Given the description of an element on the screen output the (x, y) to click on. 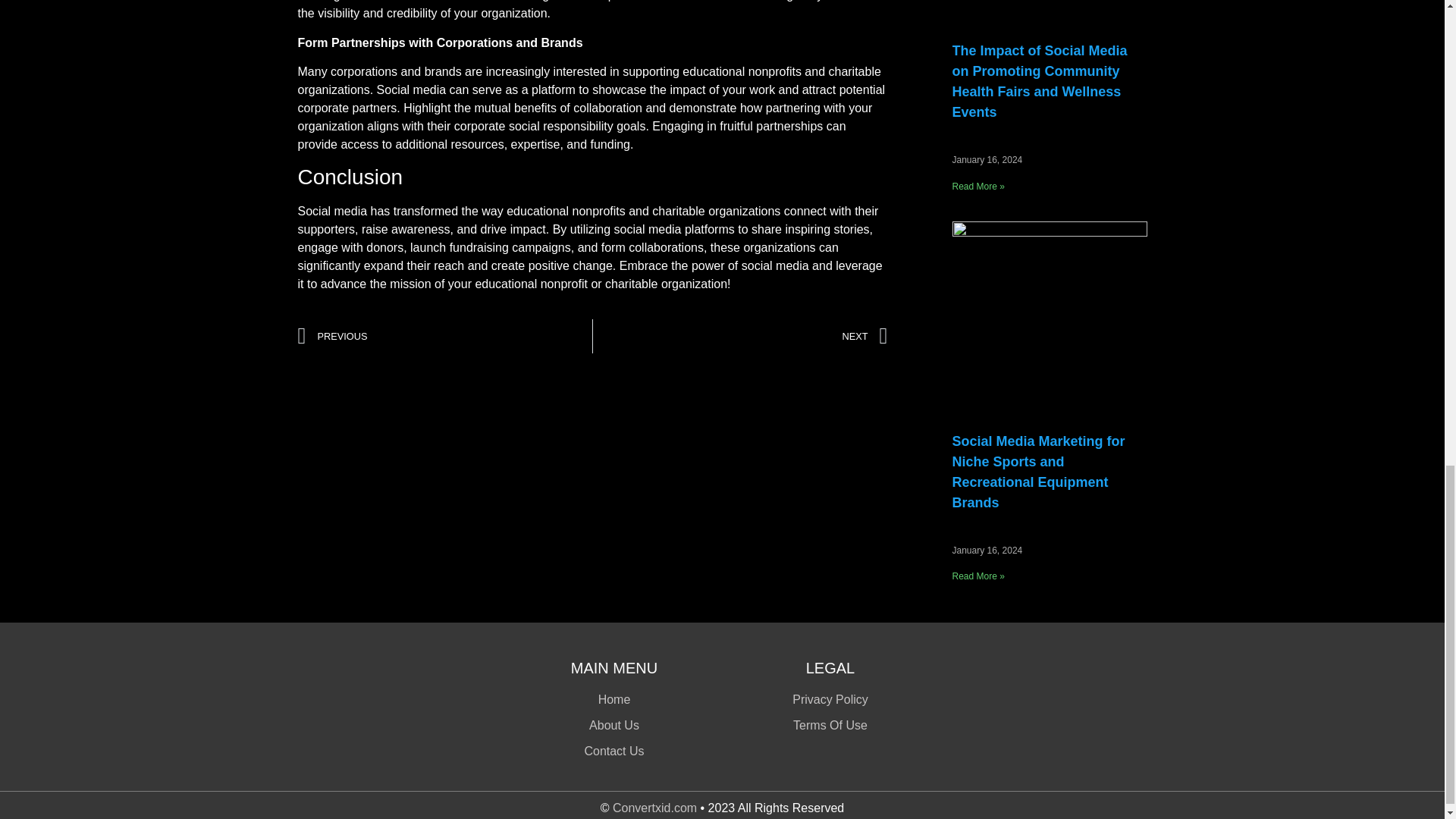
About Us (613, 725)
Home (613, 700)
Privacy Policy (829, 700)
Terms Of Use (829, 725)
PREVIOUS (444, 335)
Convertxid.com (654, 807)
Contact Us (613, 751)
NEXT (740, 335)
